Given the description of an element on the screen output the (x, y) to click on. 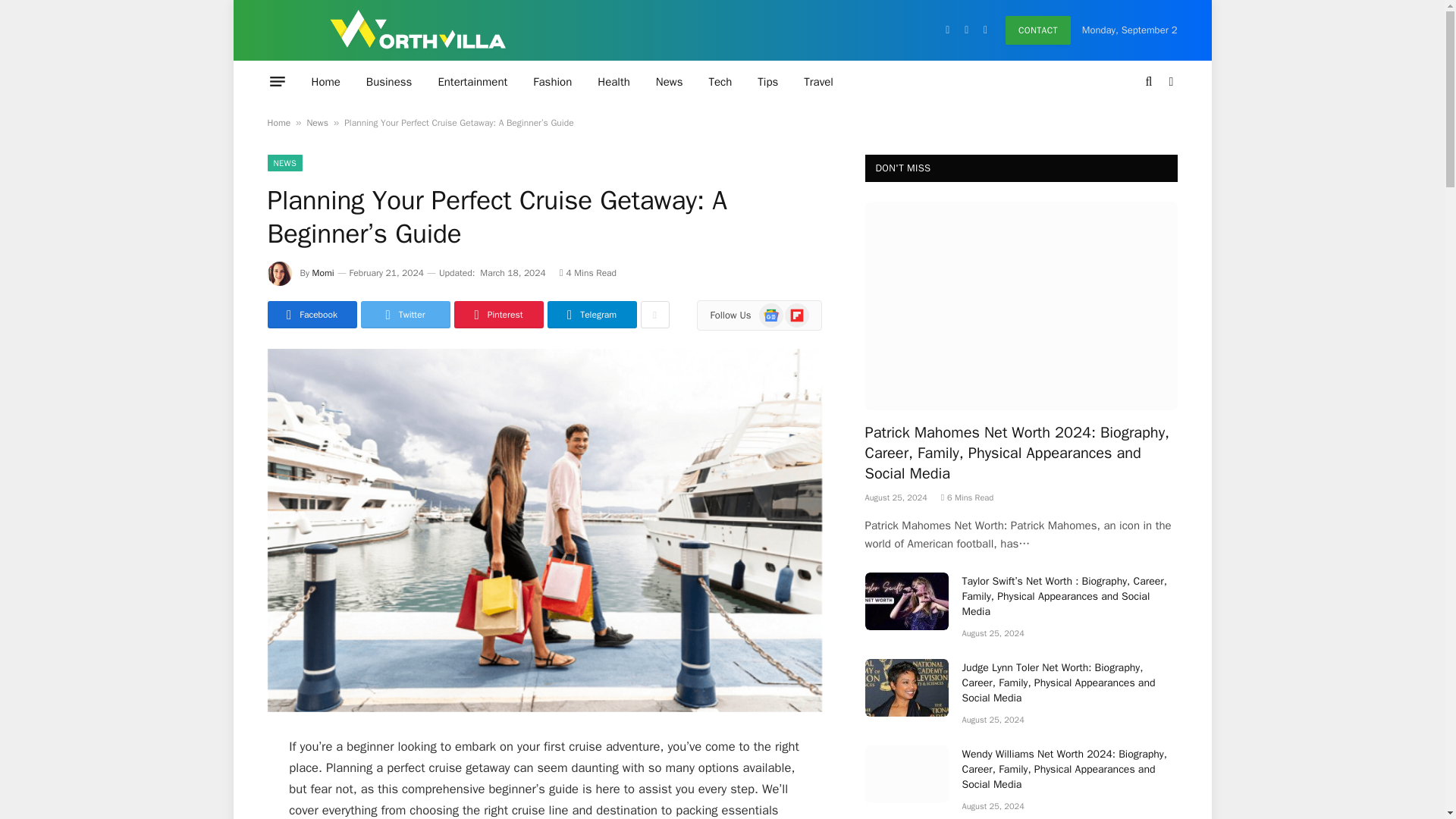
Entertainment (472, 81)
Fashion (552, 81)
News (669, 81)
CONTACT (1038, 30)
Home (325, 81)
Business (389, 81)
WorthVilla (416, 30)
Tech (719, 81)
Share on Facebook (311, 314)
Share on Pinterest (497, 314)
